Given the description of an element on the screen output the (x, y) to click on. 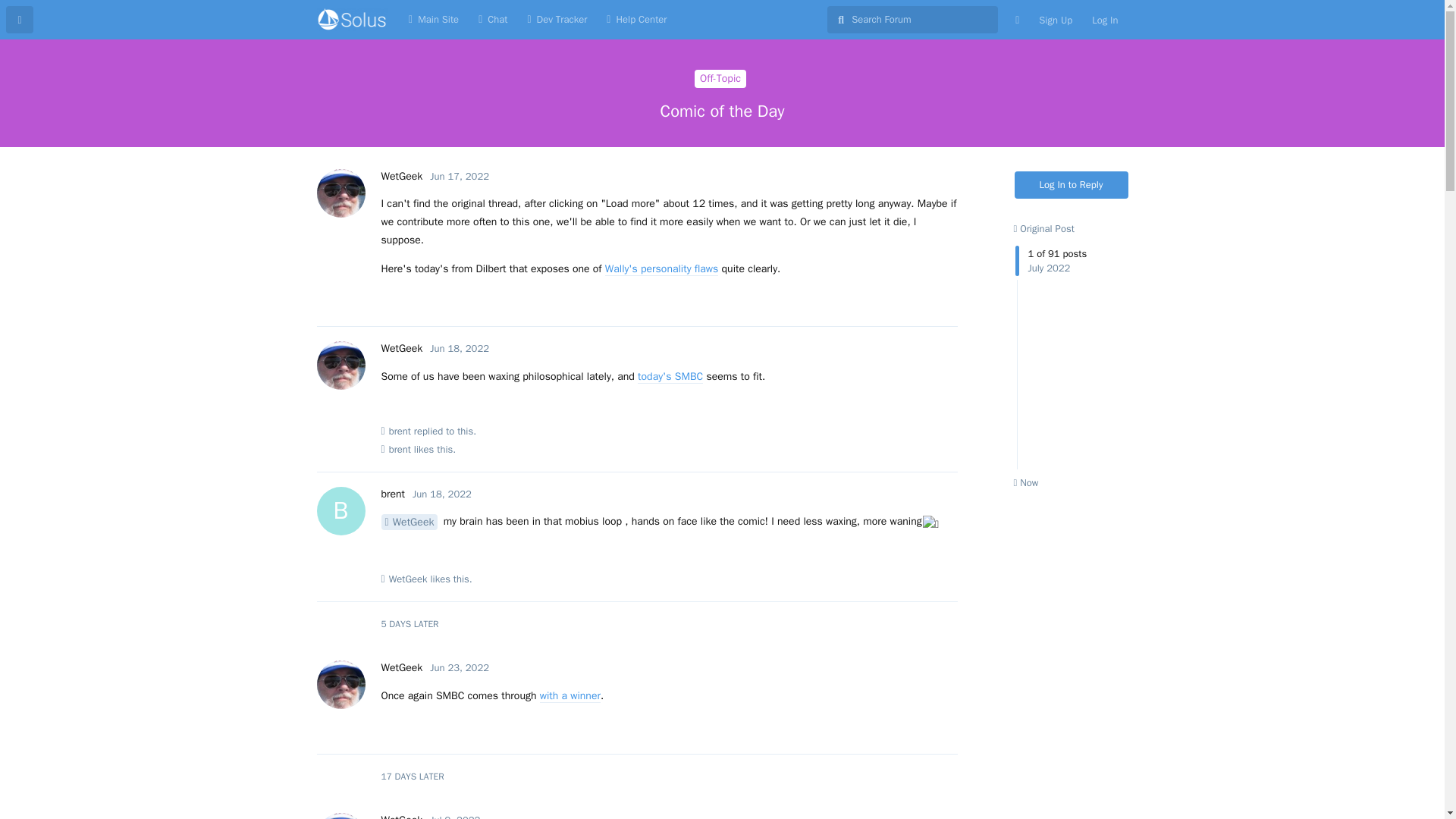
brent (399, 449)
Jun 17, 2022 (459, 175)
WetGeek (401, 667)
today's SMBC (670, 377)
Friday, June 17, 2022 10:41 PM (459, 175)
Jun 18, 2022 (441, 493)
WetGeek (401, 348)
Chat (492, 19)
with a winner (569, 695)
Jun 23, 2022 (459, 667)
Saturday, June 18, 2022 1:18 AM (459, 348)
WetGeek (409, 521)
Help Center (636, 19)
brent (399, 431)
Now (1025, 481)
